Given the description of an element on the screen output the (x, y) to click on. 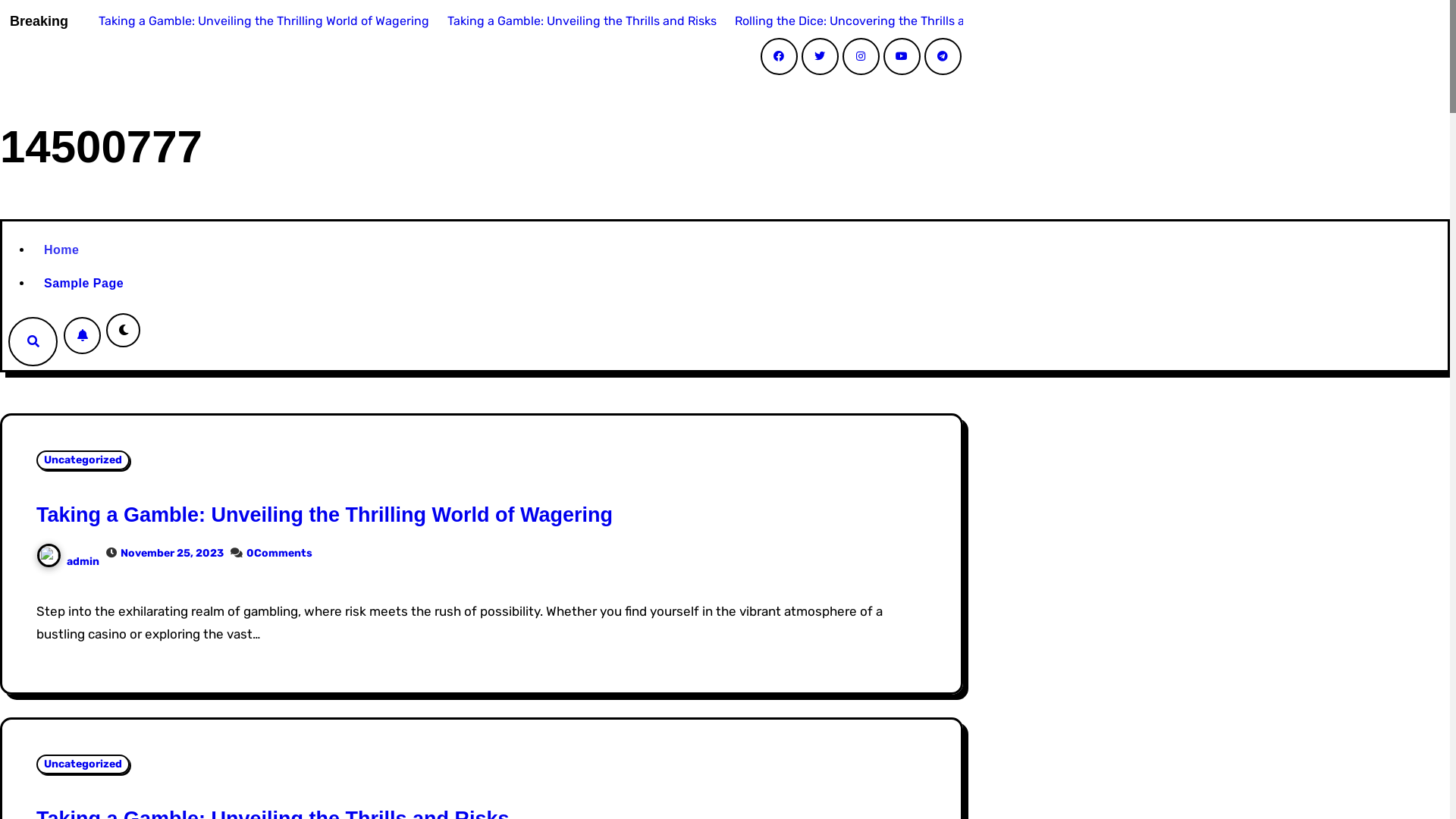
Uncategorized Element type: text (82, 764)
0Comments Element type: text (279, 552)
Uncategorized Element type: text (82, 460)
Taking a Gamble: Unveiling the Thrilling World of Wagering Element type: text (324, 514)
Taking a Gamble: Unveiling the Thrills and Risks Element type: text (575, 20)
November 25, 2023 Element type: text (171, 552)
admin Element type: text (67, 561)
Home Element type: text (498, 249)
Sample Page Element type: text (498, 283)
14500777 Element type: text (101, 146)
Taking a Gamble: Unveiling the Thrilling World of Wagering Element type: text (257, 20)
